Given the description of an element on the screen output the (x, y) to click on. 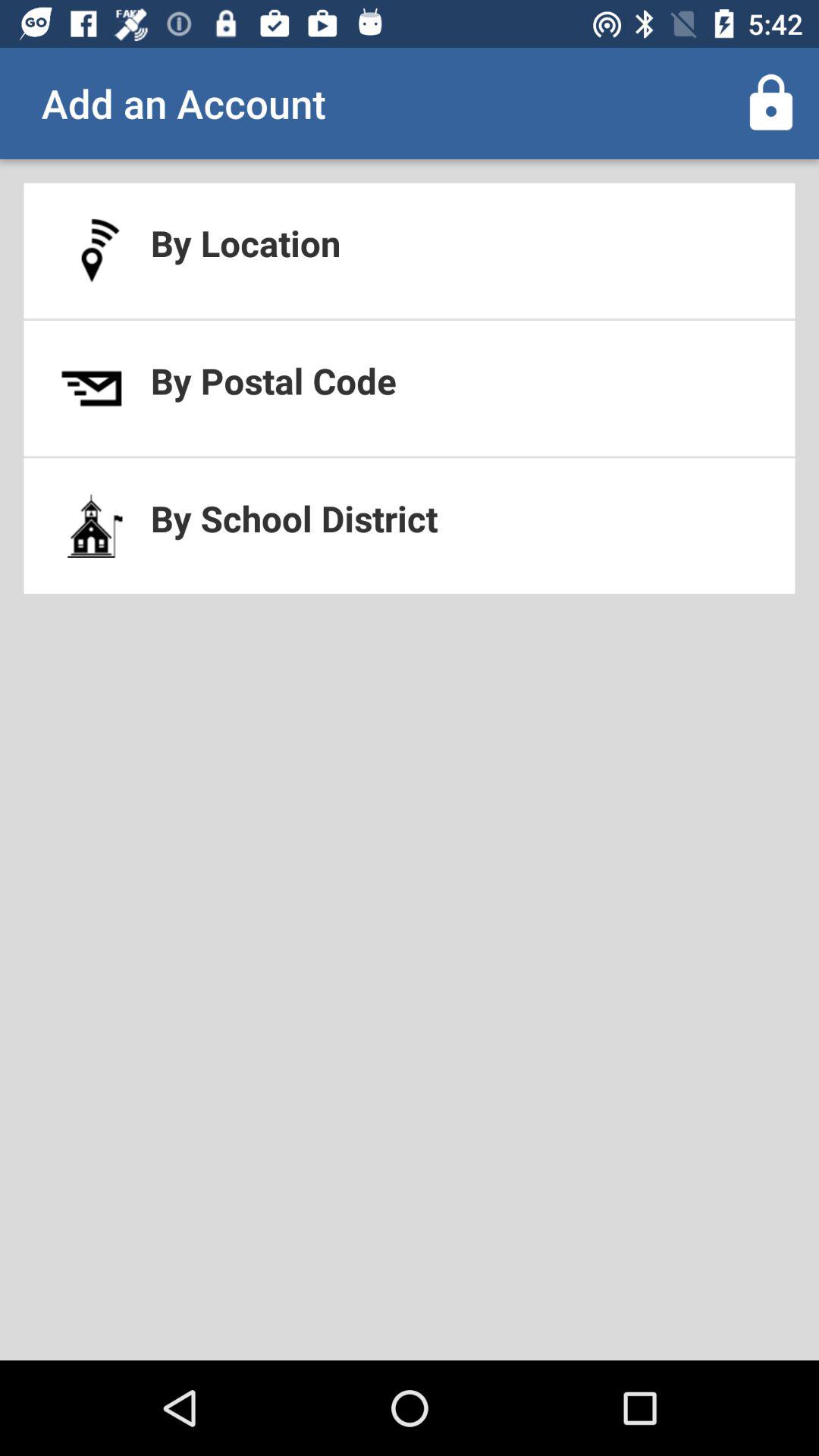
swipe until the    by school district icon (409, 525)
